Given the description of an element on the screen output the (x, y) to click on. 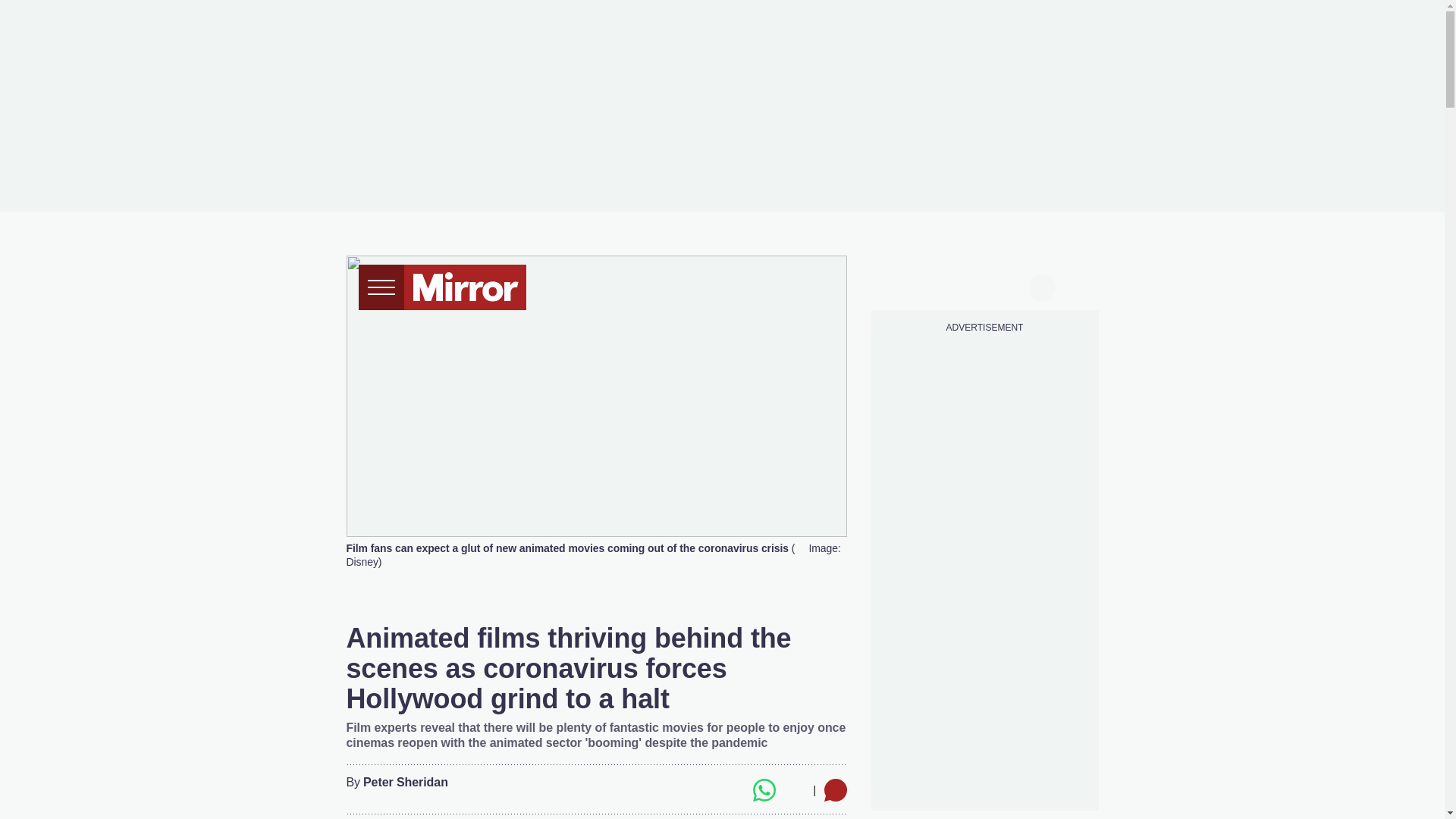
instagram (984, 285)
twitter (926, 285)
tiktok (955, 285)
Comments (834, 789)
Whatsapp (763, 789)
Twitter (733, 789)
facebook (897, 285)
Facebook (702, 789)
snapchat (1012, 285)
